Given the description of an element on the screen output the (x, y) to click on. 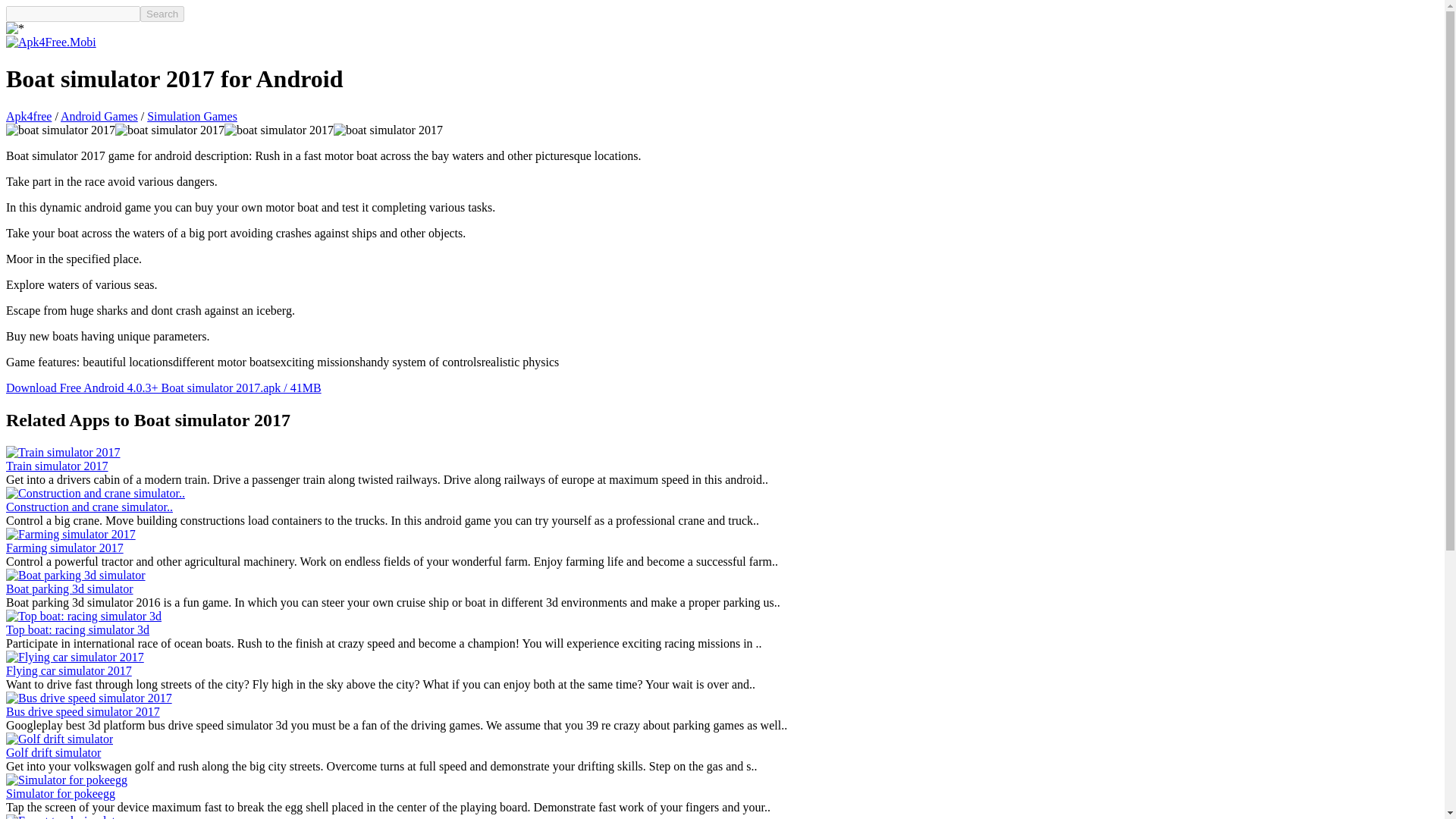
Android Games (99, 115)
Search (161, 13)
Simulation Games (192, 115)
Apk4free (27, 115)
Search (161, 13)
